Given the description of an element on the screen output the (x, y) to click on. 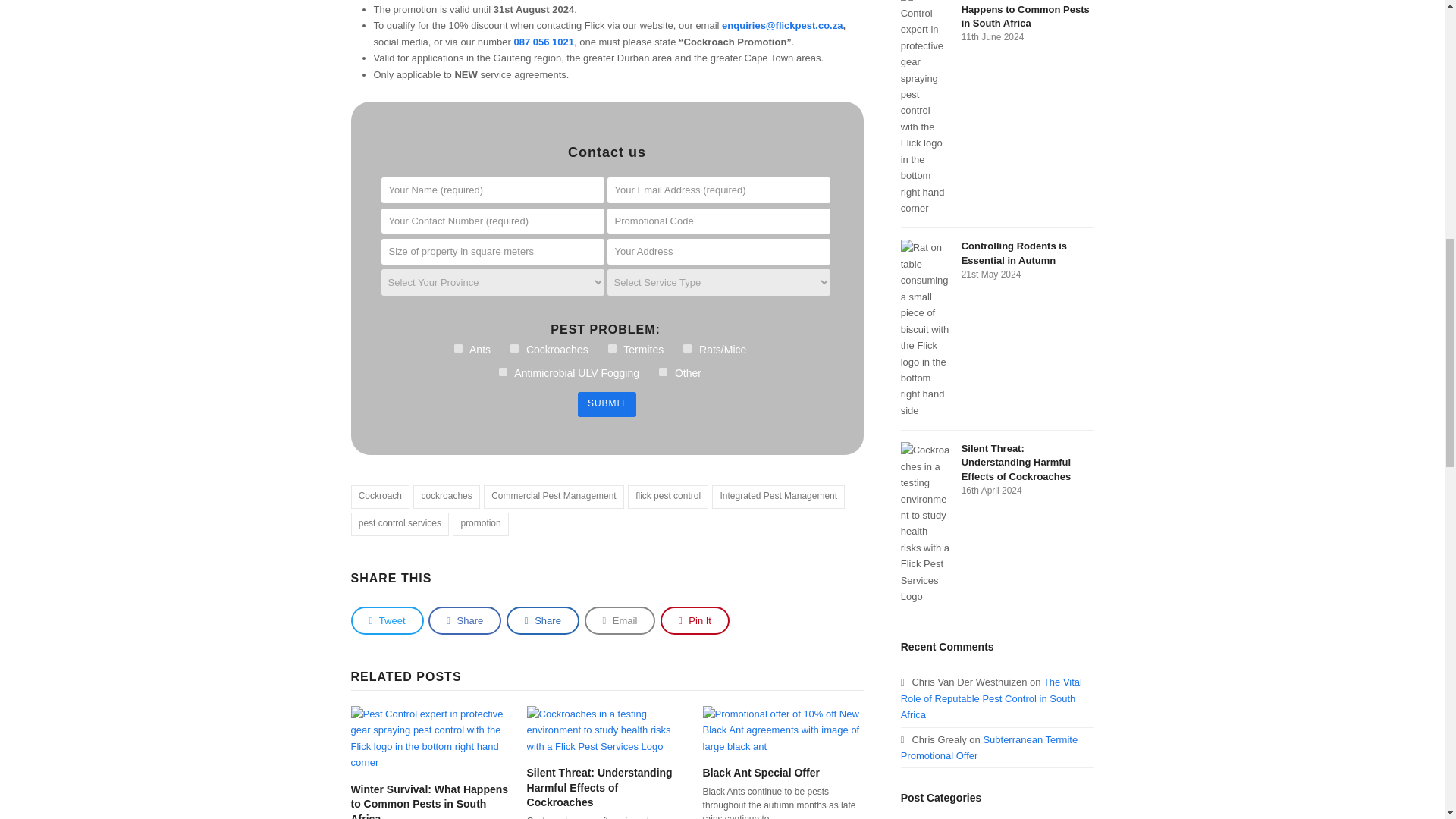
Black Ant Special Offer (783, 728)
Termites (612, 347)
Cockroaches (514, 347)
Ants (457, 347)
SUBMIT (607, 404)
Antimicrobial ULV Fogging (502, 371)
Silent Threat: Understanding Harmful Effects of Cockroaches (607, 728)
Other (663, 371)
